Given the description of an element on the screen output the (x, y) to click on. 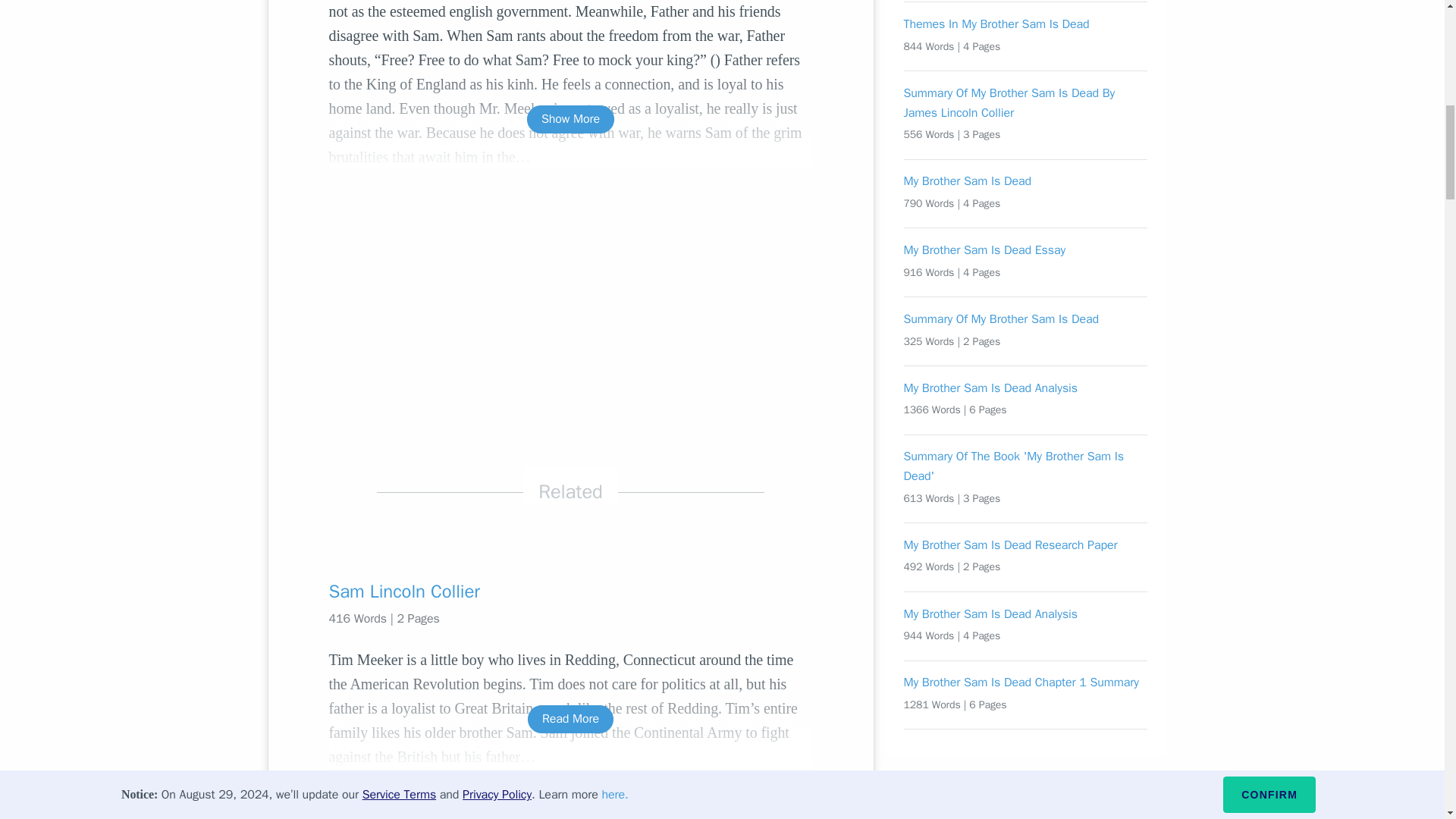
Sam Lincoln Collier (570, 591)
Read More (569, 719)
Show More (570, 119)
